Given the description of an element on the screen output the (x, y) to click on. 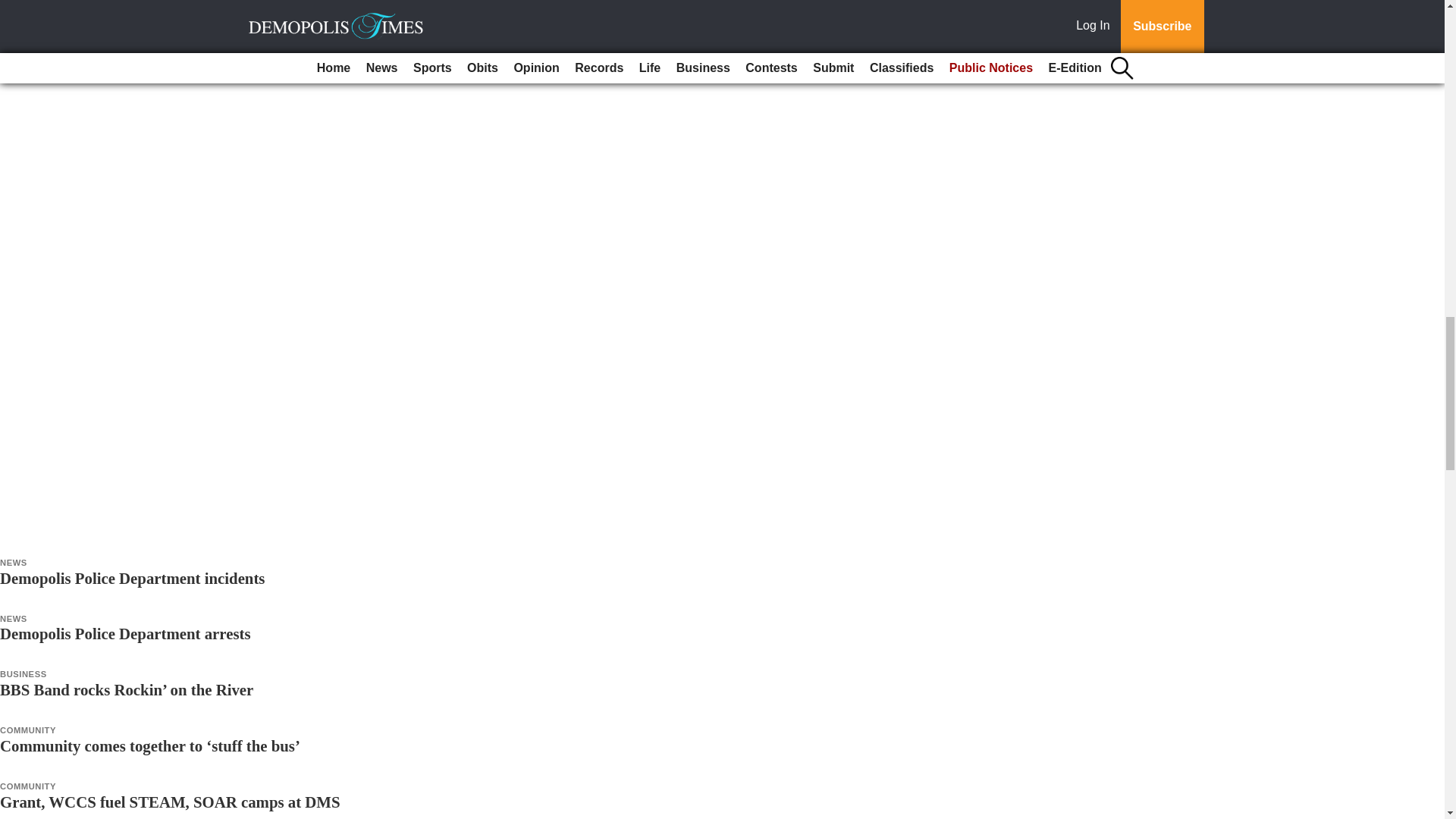
Demopolis Police Department incidents (132, 578)
Grant, WCCS fuel STEAM, SOAR camps at DMS (170, 801)
Grant, WCCS fuel STEAM, SOAR camps at DMS (170, 801)
Demopolis Police Department arrests (125, 633)
Demopolis Police Department arrests (125, 633)
Demopolis Police Department incidents (132, 578)
